Given the description of an element on the screen output the (x, y) to click on. 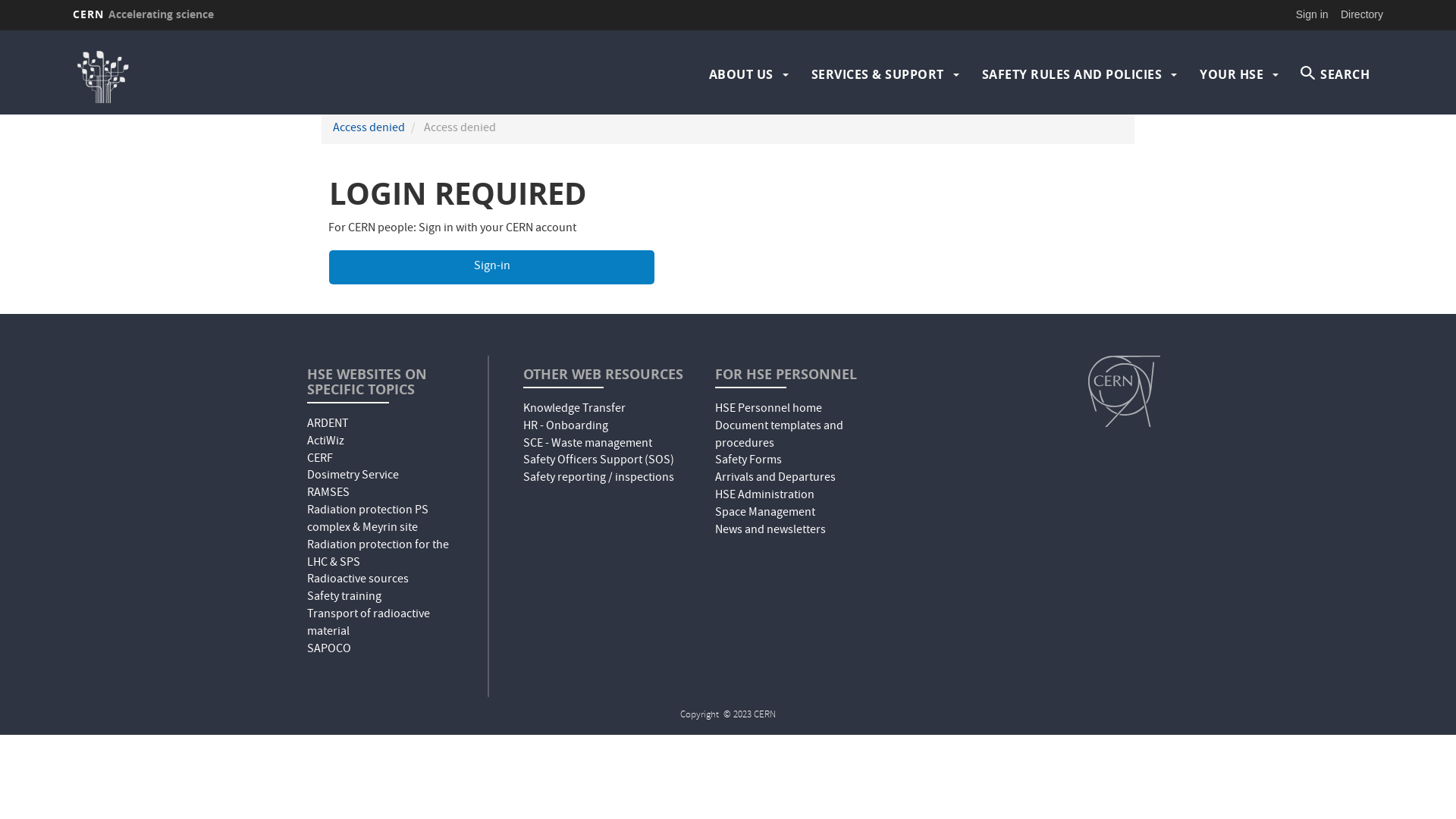
CERN Accelerating science Element type: text (142, 14)
Access denied Element type: text (368, 128)
Radiation protection PS complex & Meyrin site Element type: text (367, 519)
SCE - Waste management Element type: text (587, 444)
SEARCH Element type: text (1335, 74)
CERF Element type: text (319, 459)
CERN Element type: hover (1124, 390)
Home Element type: hover (232, 74)
Skip to main content Element type: text (0, 30)
Arrivals and Departures Element type: text (775, 478)
RAMSES Element type: text (328, 493)
Safety reporting / inspections Element type: text (598, 478)
HR - Onboarding Element type: text (565, 426)
Transport of radioactive material Element type: text (368, 623)
Radioactive sources Element type: text (357, 580)
ARDENT Element type: text (327, 424)
Sign in Element type: text (1311, 14)
Document templates and procedures Element type: text (779, 435)
Radiation protection for the LHC & SPS Element type: text (377, 554)
ActiWiz Element type: text (325, 442)
News and newsletters Element type: text (770, 530)
SERVICES & SUPPORT Element type: text (877, 74)
Safety training Element type: text (344, 597)
Sign-in Element type: text (491, 266)
HSE Administration Element type: text (764, 495)
Safety Forms Element type: text (748, 460)
Directory Element type: text (1361, 14)
Safety Officers Support (SOS) Element type: text (598, 460)
Space Management Element type: text (765, 513)
ABOUT US Element type: text (740, 74)
Dosimetry Service Element type: text (352, 476)
HSE Personnel home Element type: text (768, 409)
Copyright Element type: text (700, 715)
SAFETY RULES AND POLICIES Element type: text (1071, 74)
YOUR HSE Element type: text (1231, 74)
Knowledge Transfer Element type: text (574, 409)
SAPOCO Element type: text (329, 649)
